Given the description of an element on the screen output the (x, y) to click on. 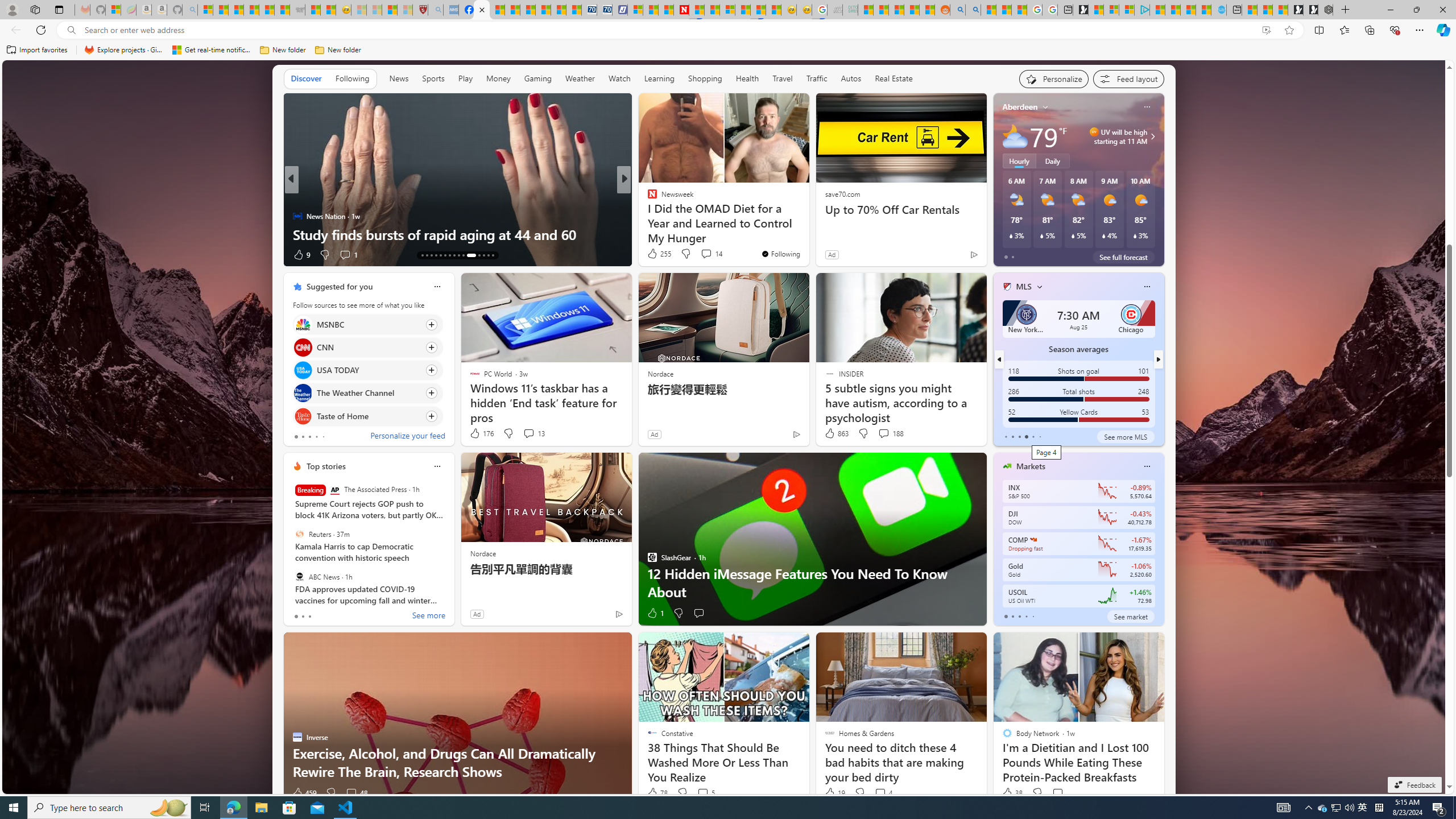
View comments 188 Comment (883, 432)
View comments 13 Comment (528, 432)
Autos (851, 78)
tab-1 (1012, 616)
MLS (1024, 286)
5 Like (651, 254)
See full forecast (1123, 256)
AutomationID: tab-68 (431, 255)
Search icon (70, 29)
